Given the description of an element on the screen output the (x, y) to click on. 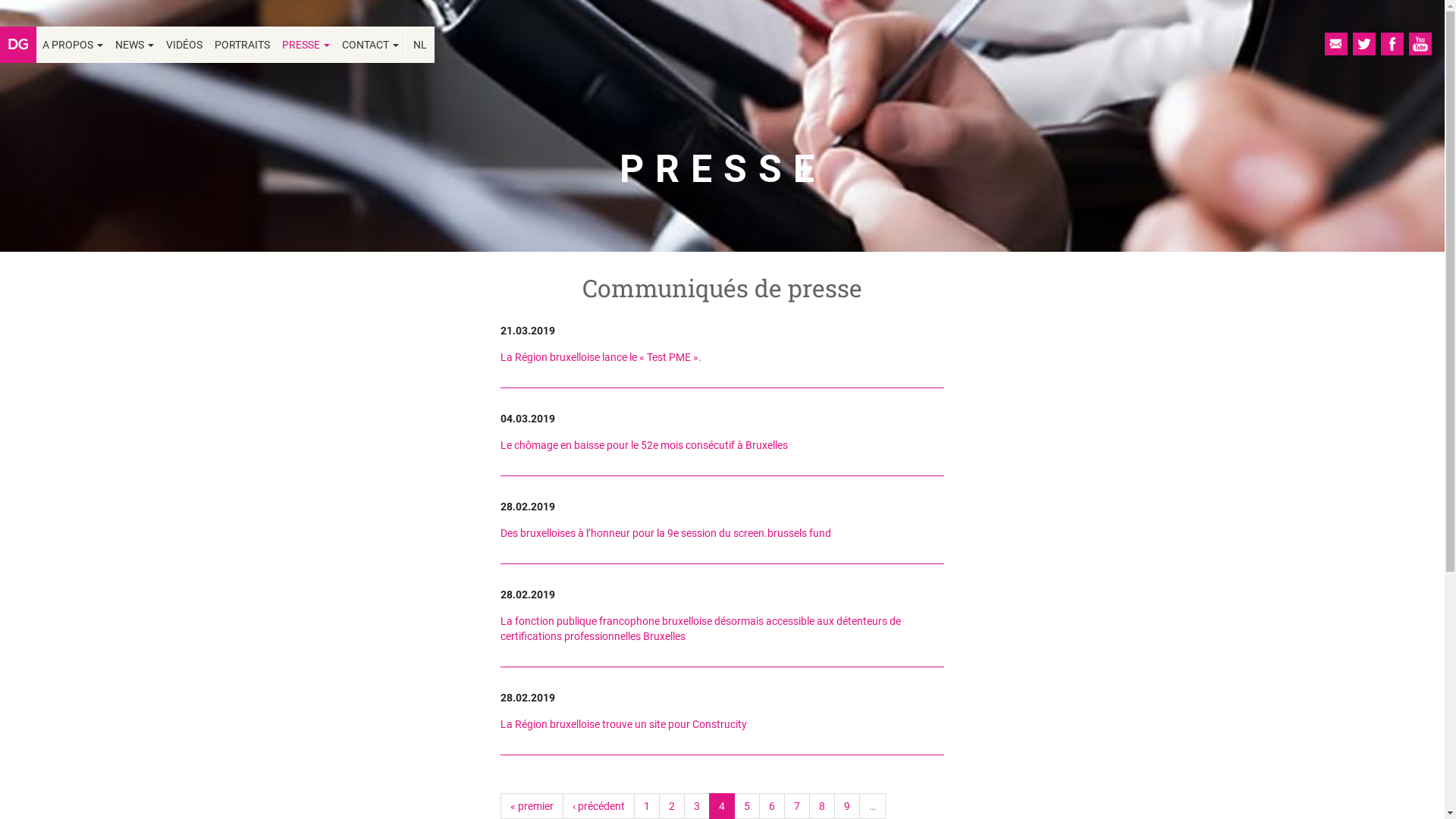
NL Element type: text (419, 44)
Aller au contenu principal Element type: text (0, 0)
NEWS Element type: text (134, 44)
Accueil Element type: hover (18, 44)
A PROPOS Element type: text (72, 44)
PRESSE Element type: text (305, 44)
CONTACT Element type: text (369, 44)
Youtube Element type: text (1419, 43)
Twiter Element type: text (1363, 43)
Facebook Element type: text (1391, 43)
NwsLttr Element type: text (1335, 43)
PORTRAITS Element type: text (242, 44)
